Given the description of an element on the screen output the (x, y) to click on. 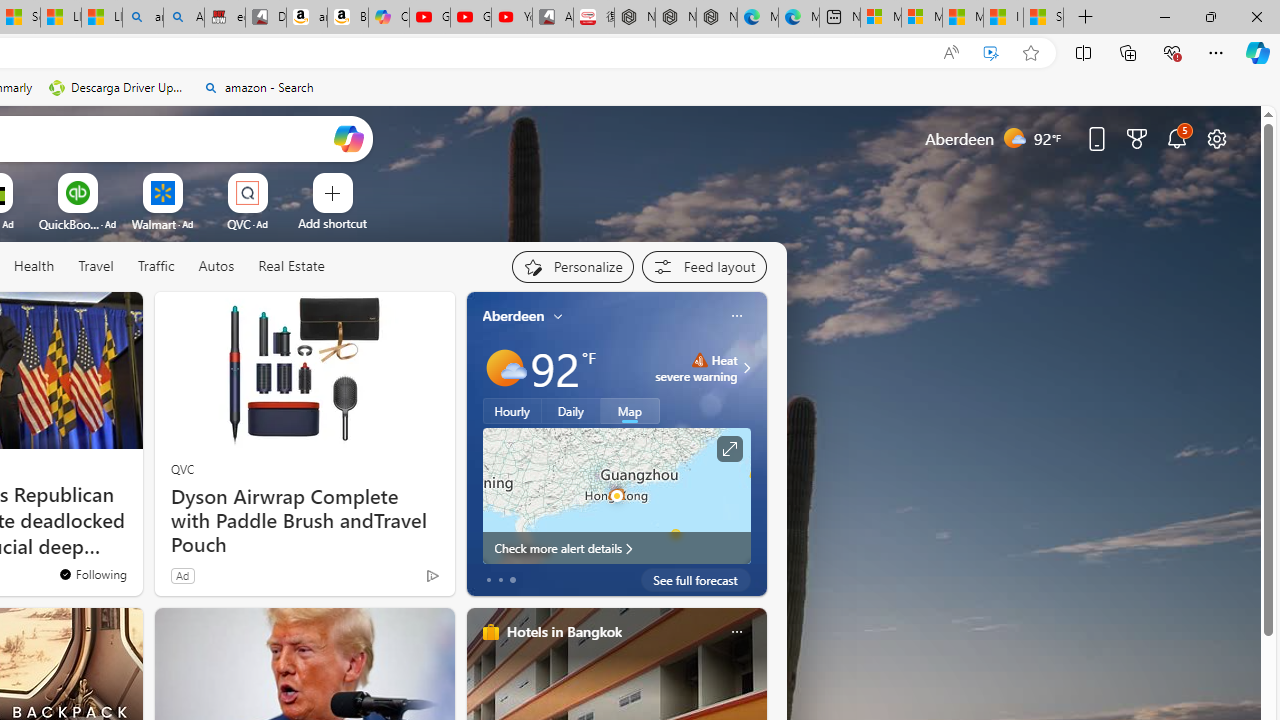
Collections (1128, 52)
Mostly sunny (504, 368)
More options (736, 631)
Travel (95, 265)
tab-1 (500, 579)
Microsoft Start (963, 17)
amazon.in/dp/B0CX59H5W7/?tag=gsmcom05-21 (306, 17)
Copilot (Ctrl+Shift+.) (1258, 52)
Page settings (1216, 138)
Notifications (1176, 138)
Health (34, 265)
Split screen (1083, 52)
